Given the description of an element on the screen output the (x, y) to click on. 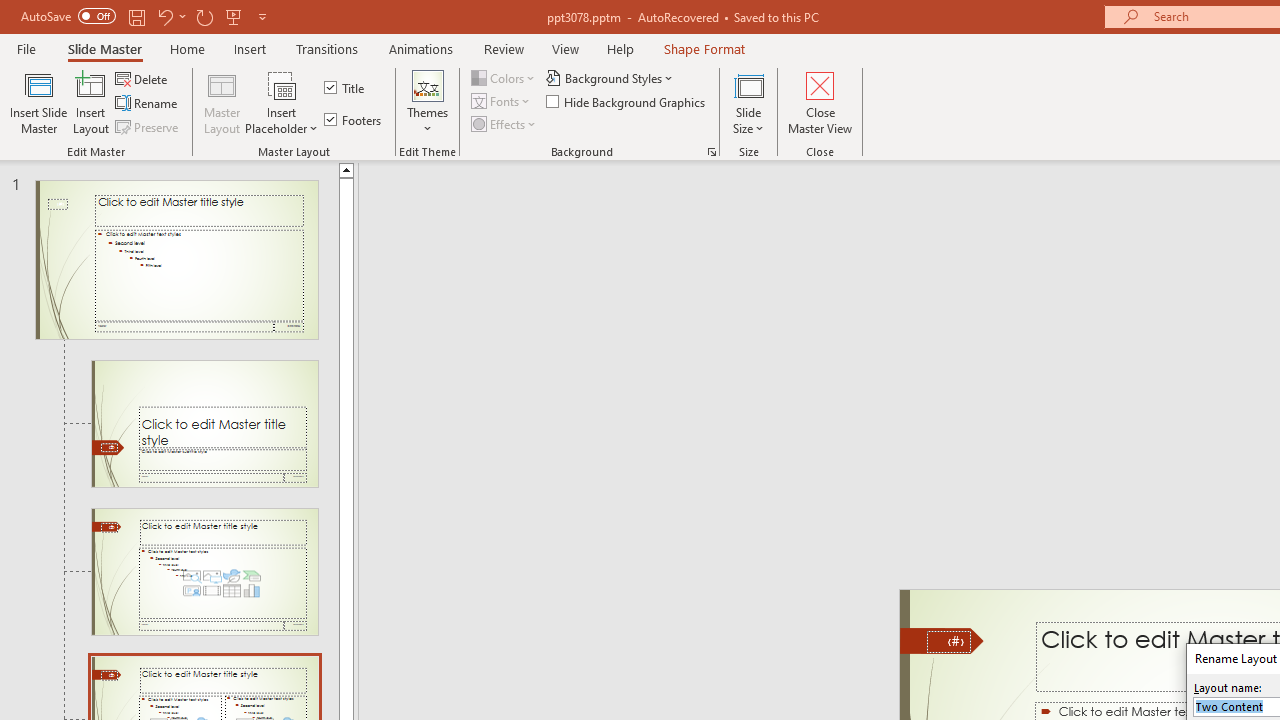
Document Preferences (431, 126)
Undo <ApplyStyleToDoc>b__0 (290, 31)
Repeat Style (341, 31)
Unlink Citations (403, 196)
